Given the description of an element on the screen output the (x, y) to click on. 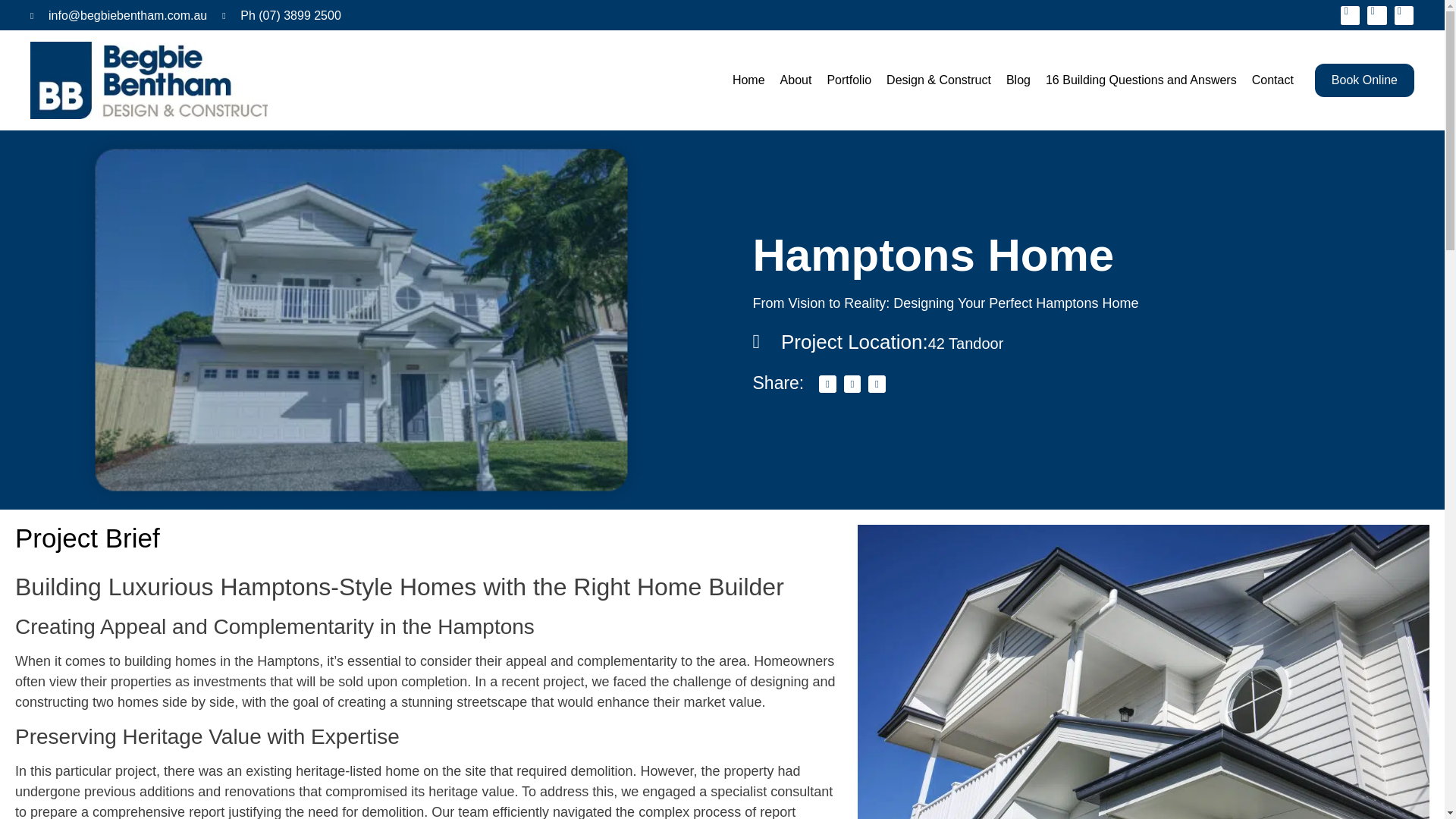
16 Building Questions and Answers (1141, 80)
Contact (1272, 80)
About (796, 80)
Blog (1018, 80)
Portfolio (848, 80)
Book Online (1363, 80)
Home (749, 80)
